Given the description of an element on the screen output the (x, y) to click on. 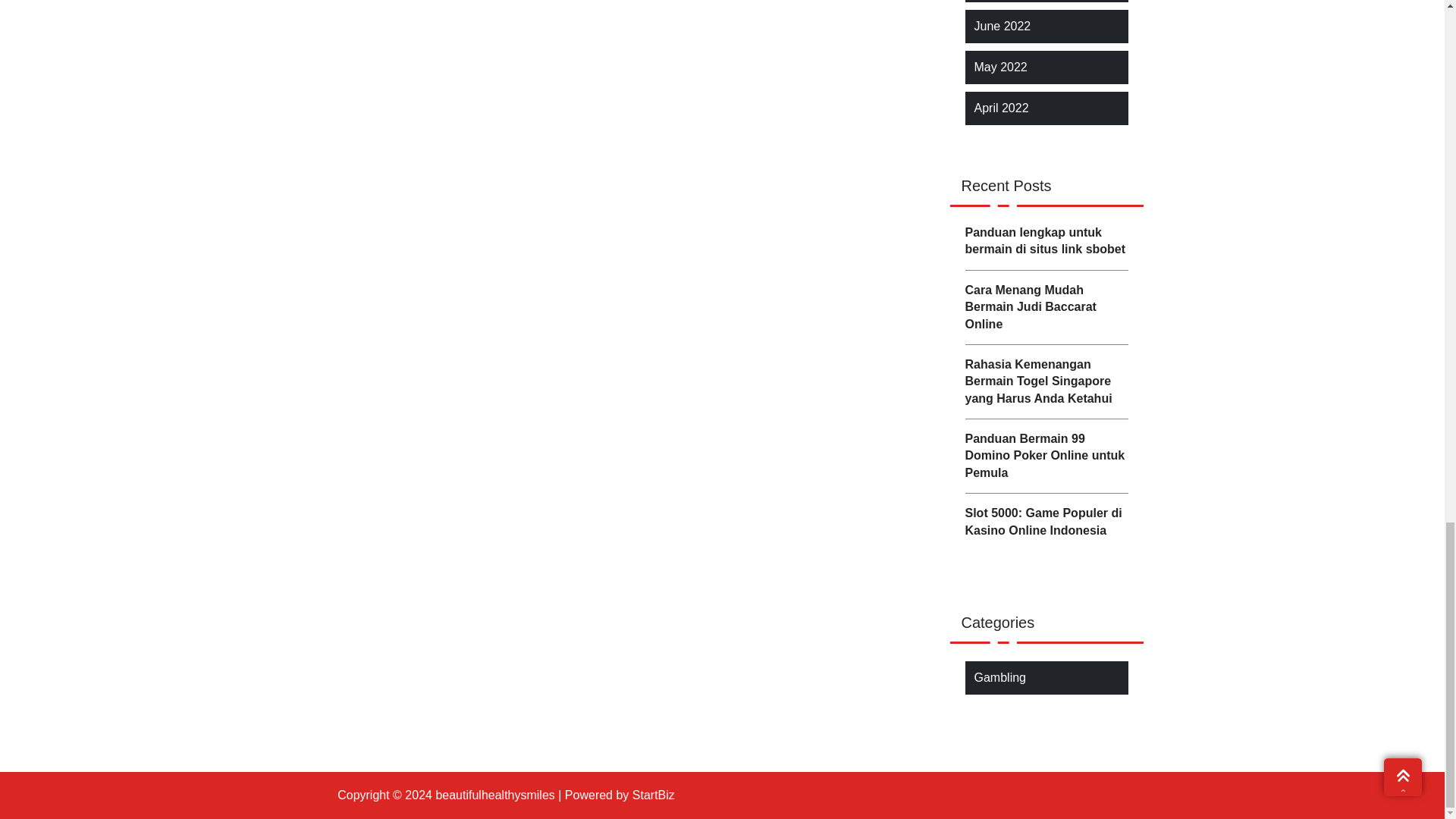
May 2022 (1000, 67)
June 2022 (1002, 26)
